Given the description of an element on the screen output the (x, y) to click on. 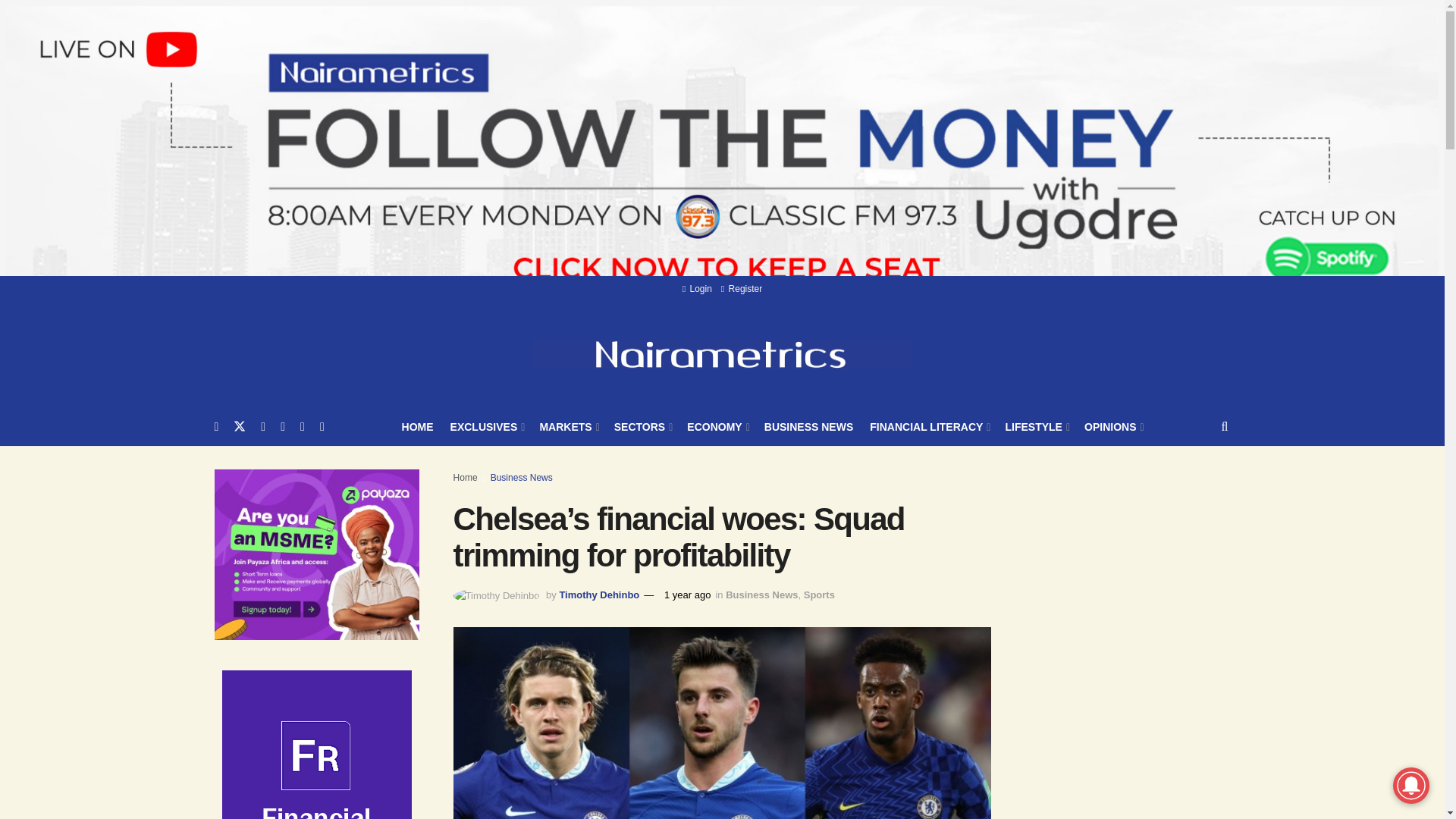
Register (740, 289)
HOME (417, 426)
SECTORS (642, 426)
MARKETS (567, 426)
Login (696, 289)
EXCLUSIVES (485, 426)
Advertisement (1138, 785)
